Given the description of an element on the screen output the (x, y) to click on. 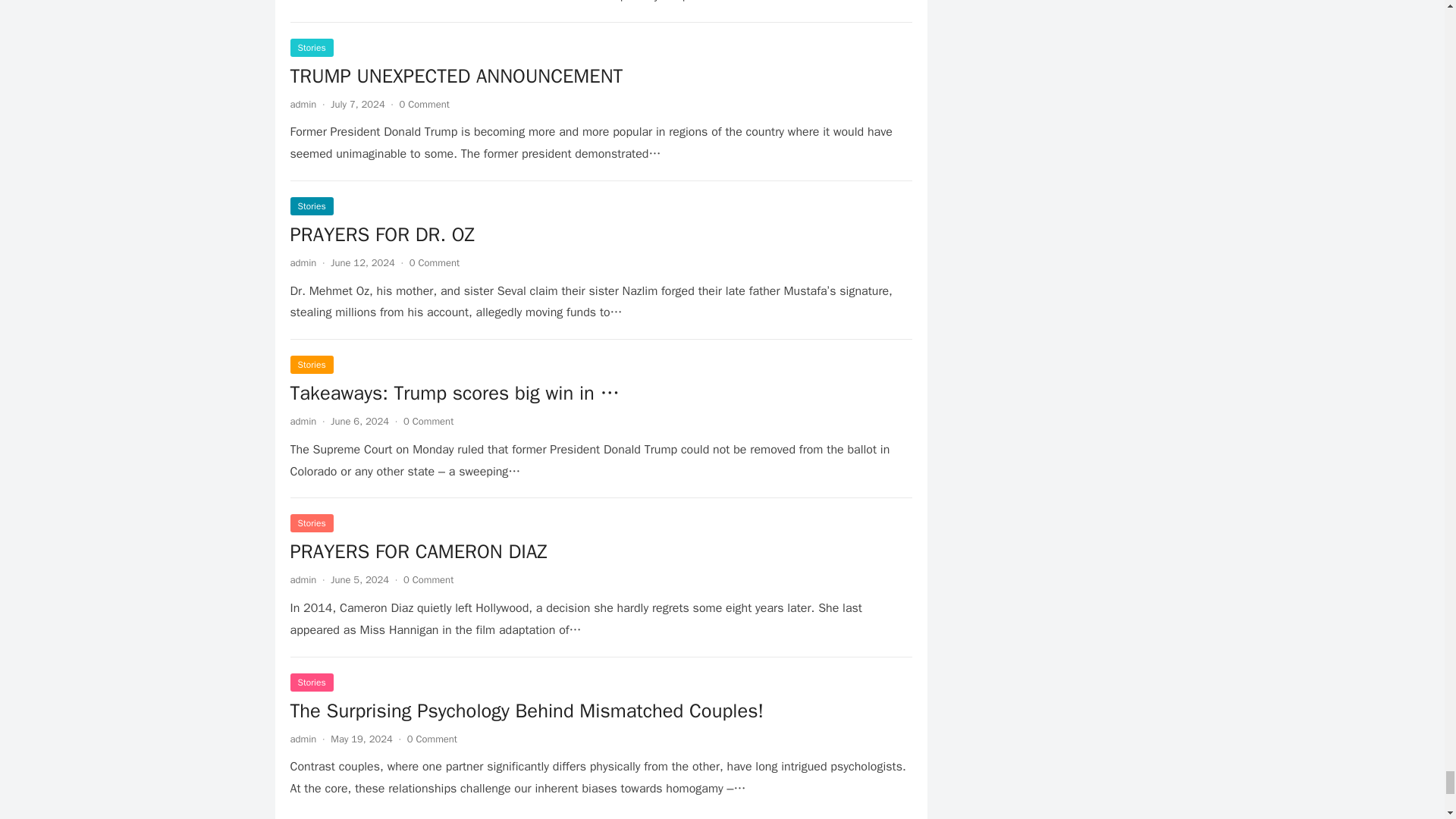
Posts by admin (302, 579)
Posts by admin (302, 738)
TRUMP UNEXPECTED ANNOUNCEMENT (456, 75)
admin (302, 103)
Stories (311, 206)
Posts by admin (302, 103)
Posts by admin (302, 262)
admin (302, 262)
Stories (311, 47)
PRAYERS FOR DR. OZ (381, 234)
